Given the description of an element on the screen output the (x, y) to click on. 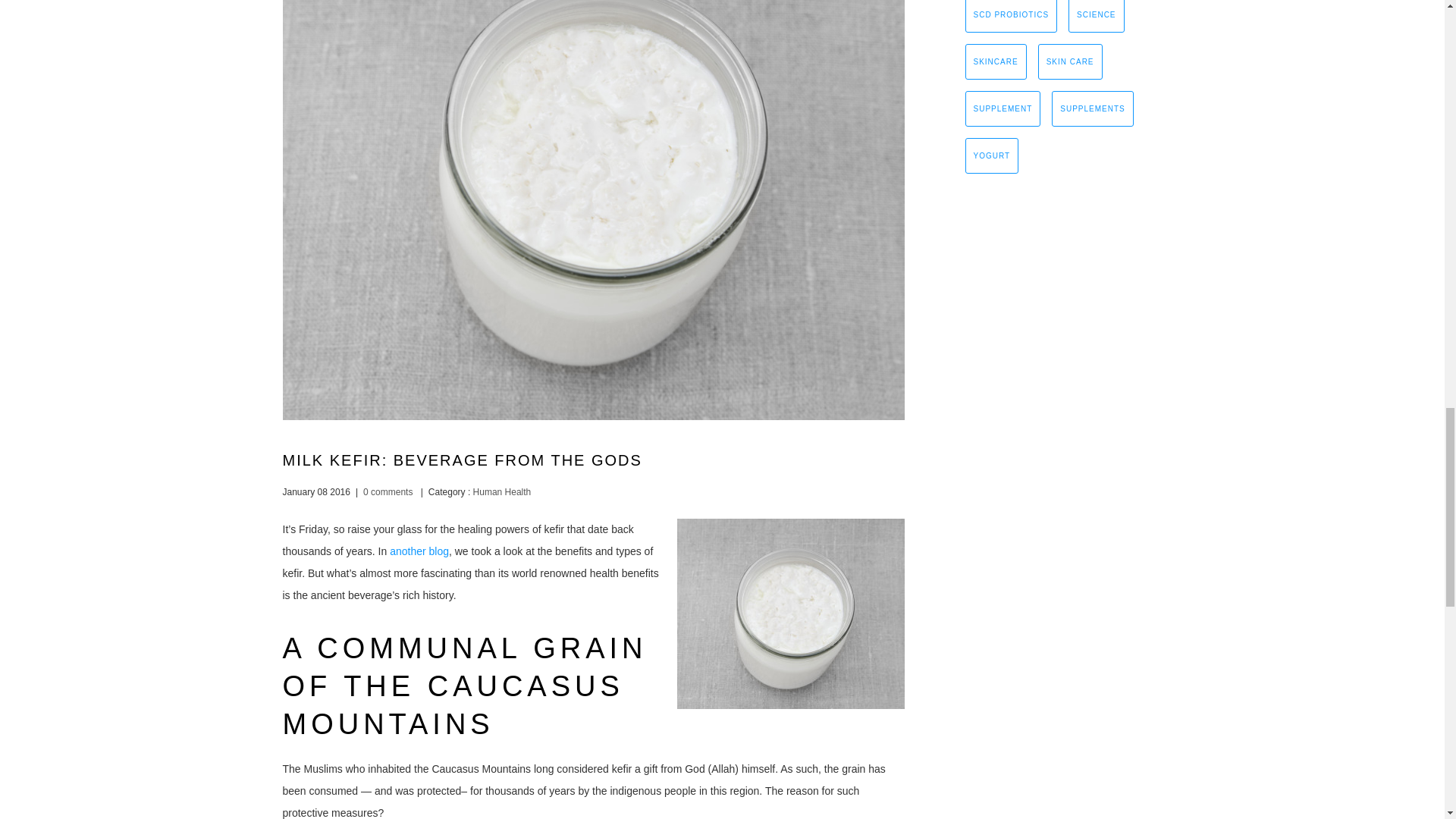
Human Health (500, 491)
View all posts in Human Health (500, 491)
MILK KEFIR: BEVERAGE FROM THE GODS (462, 460)
0 comments (387, 491)
another blog (419, 551)
